Given the description of an element on the screen output the (x, y) to click on. 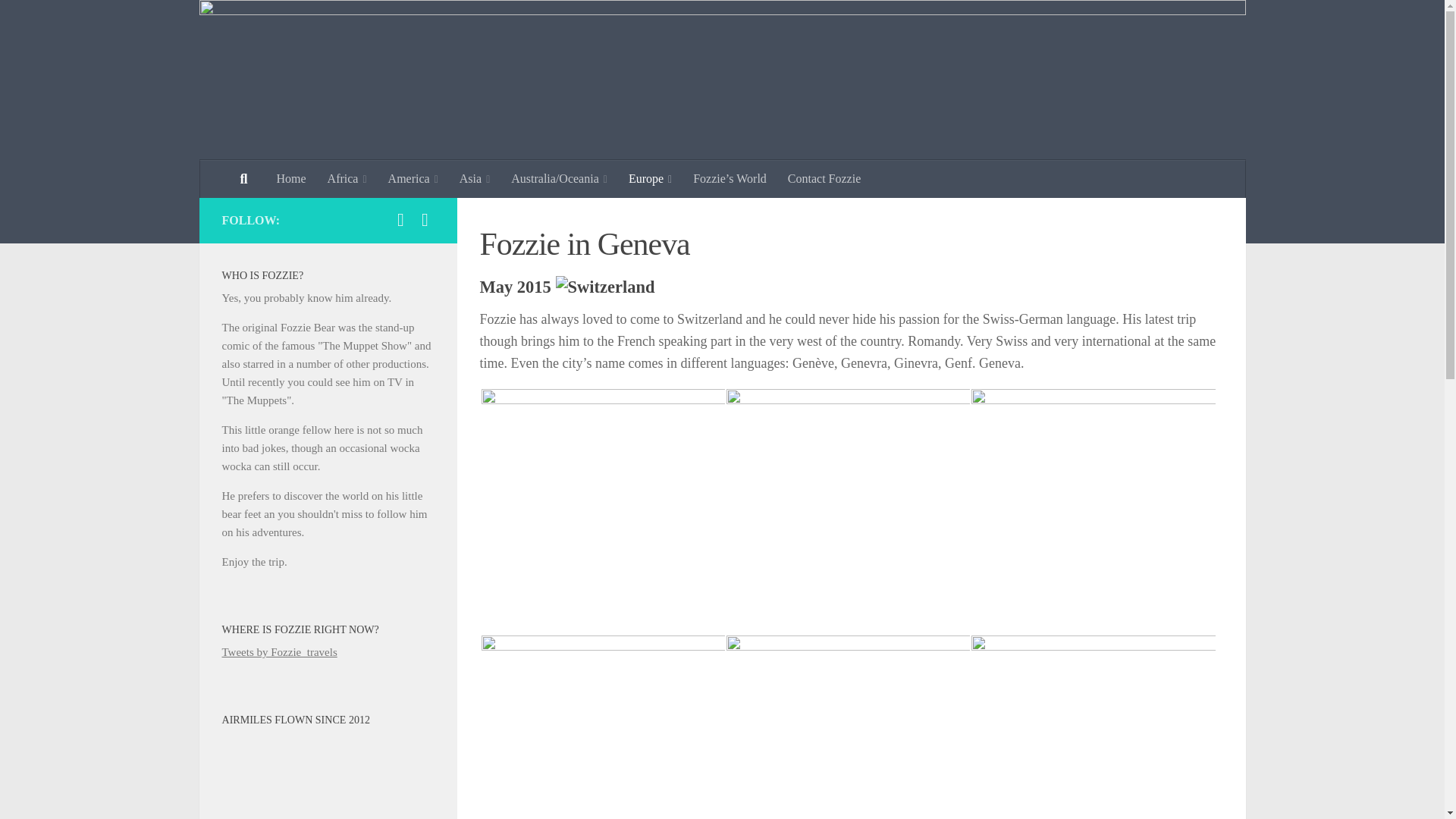
Switzerland (603, 287)
Best Of Fozzie travels (400, 219)
Skip to content (59, 20)
Follow me on Twitter (423, 219)
